Given the description of an element on the screen output the (x, y) to click on. 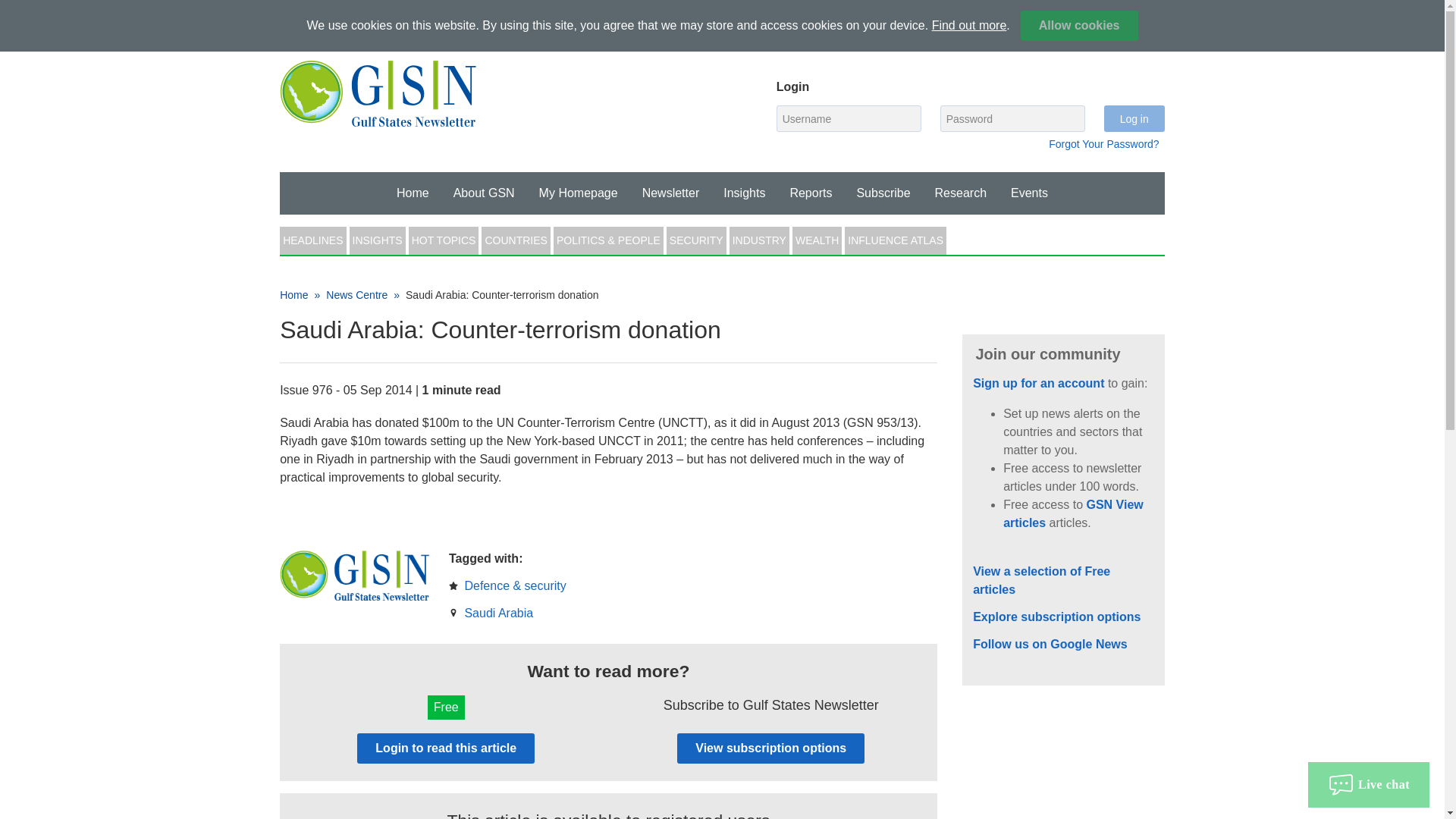
Home (963, 31)
Home (412, 192)
My Homepage (412, 192)
Insights (578, 192)
Reports (744, 192)
My homepage (810, 192)
About GSN (1126, 30)
Research (484, 192)
Newsletter (960, 192)
Forgot Your Password? (670, 192)
Log in (1103, 143)
Log in (1133, 118)
My homepage (1133, 118)
About GSN (1126, 30)
